Given the description of an element on the screen output the (x, y) to click on. 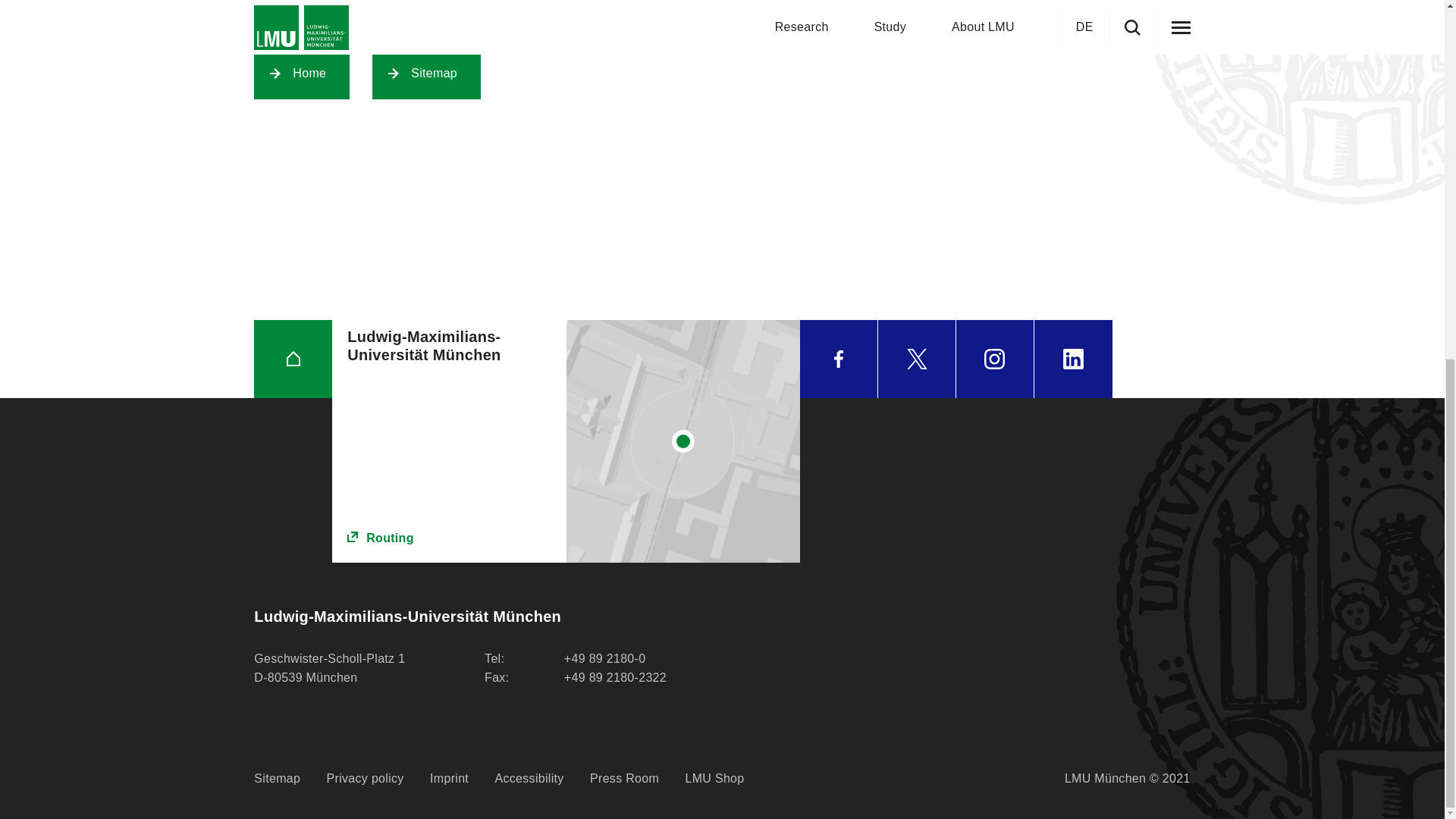
Routing (449, 538)
Accessibility (529, 778)
Imprint (448, 778)
Home (301, 73)
Sitemap (276, 778)
Privacy policy (365, 778)
Facebook-Link opens in a new window (838, 359)
Twitter (916, 359)
Facebook (838, 359)
LinkedIn (1072, 359)
